Given the description of an element on the screen output the (x, y) to click on. 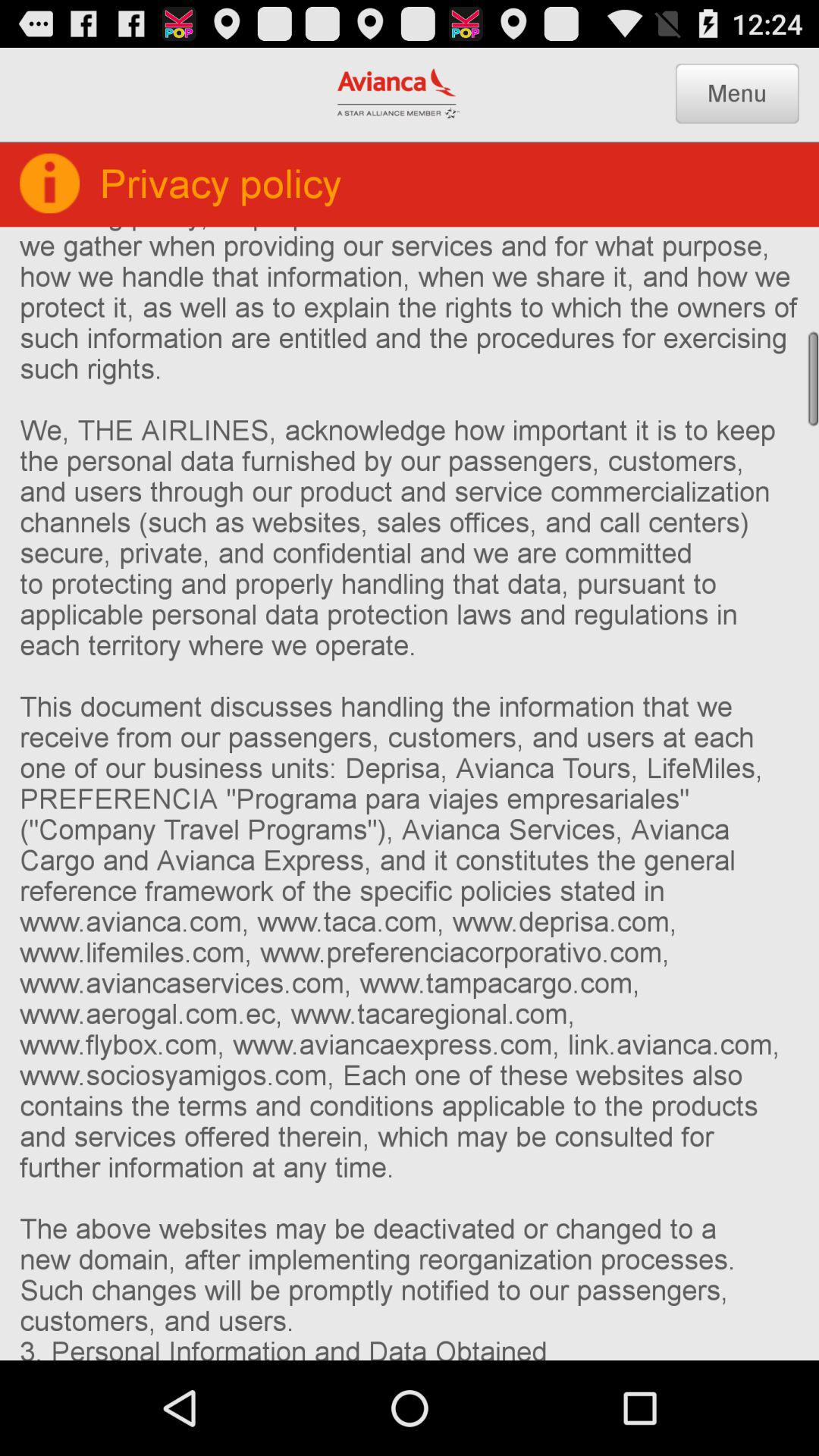
jump until 1 who we icon (409, 793)
